Given the description of an element on the screen output the (x, y) to click on. 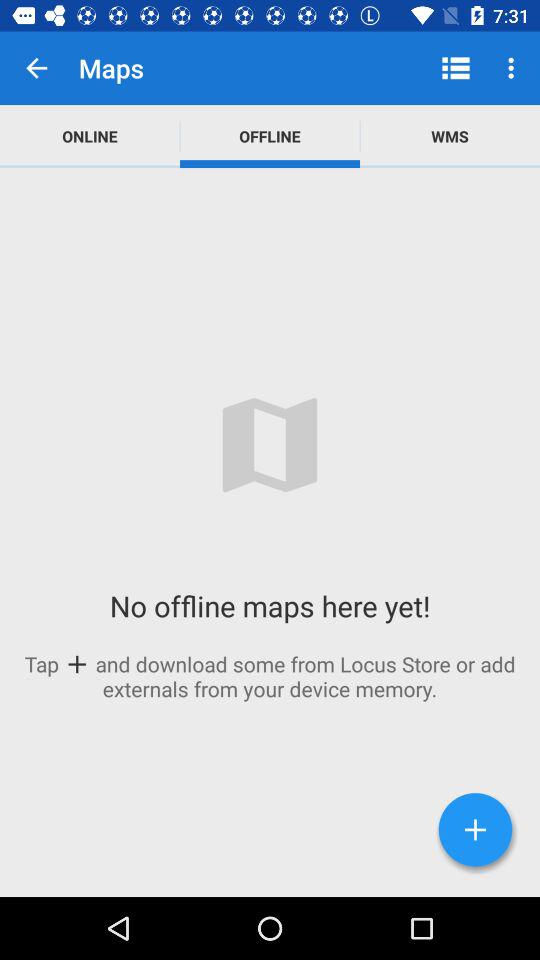
choose the icon below the tap and download icon (475, 829)
